Given the description of an element on the screen output the (x, y) to click on. 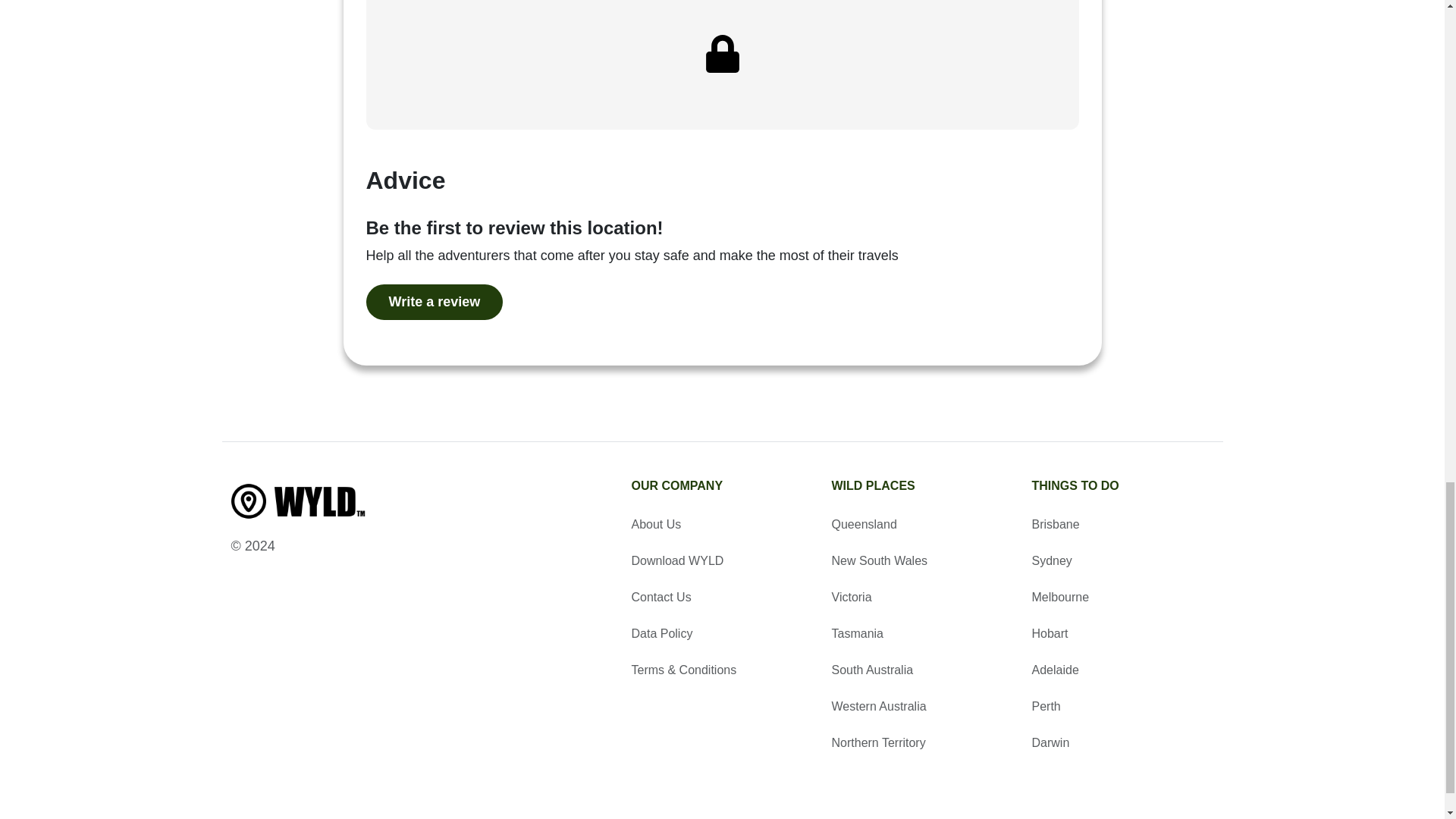
Victoria (922, 597)
Adelaide (1121, 669)
Melbourne (1121, 597)
South Australia (922, 669)
Sydney (1121, 561)
Brisbane (1121, 524)
Northern Territory (922, 742)
About Us (721, 524)
Contact Us (721, 597)
Download WYLD (721, 561)
